Given the description of an element on the screen output the (x, y) to click on. 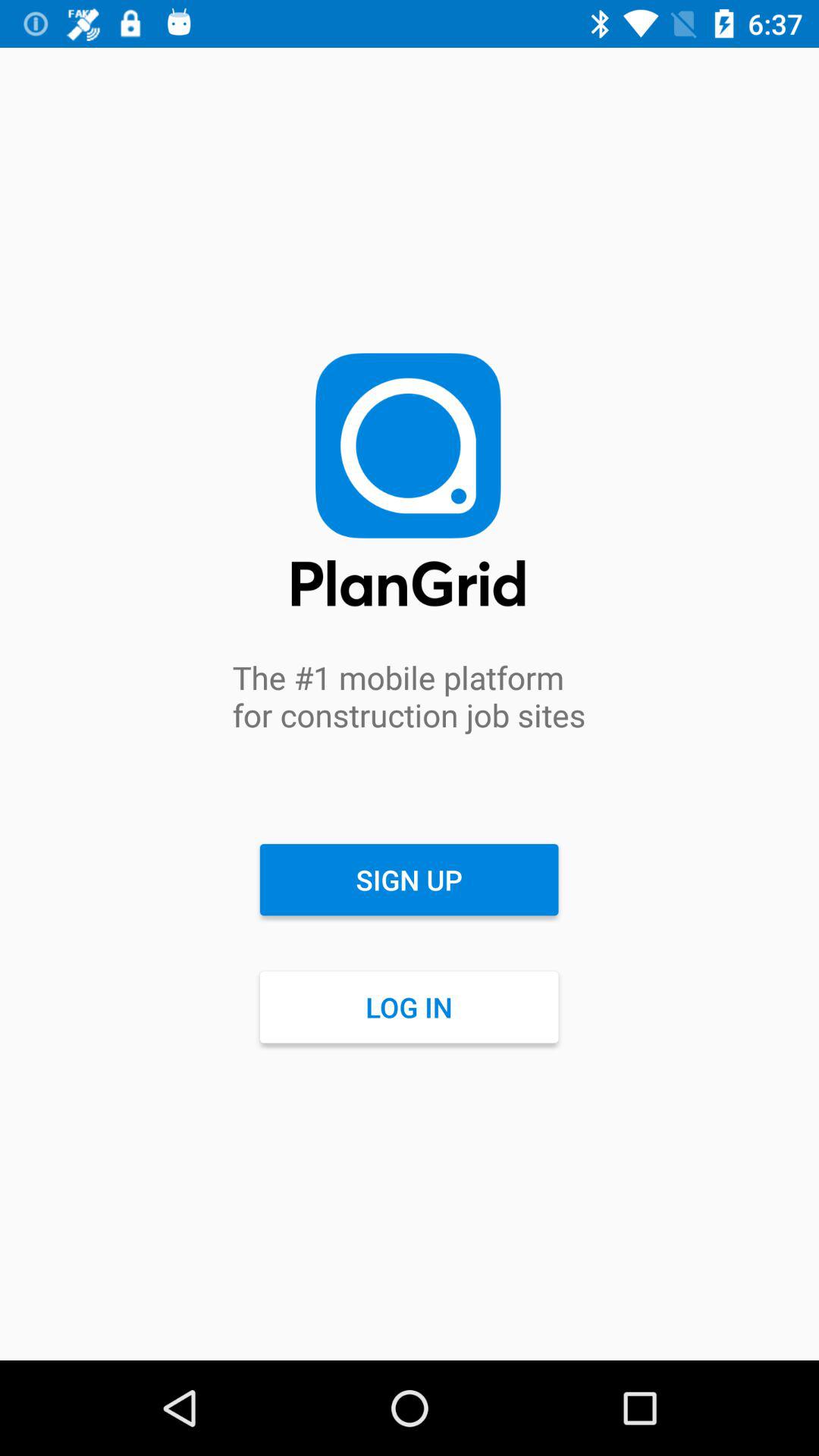
select item above the log in item (408, 879)
